Given the description of an element on the screen output the (x, y) to click on. 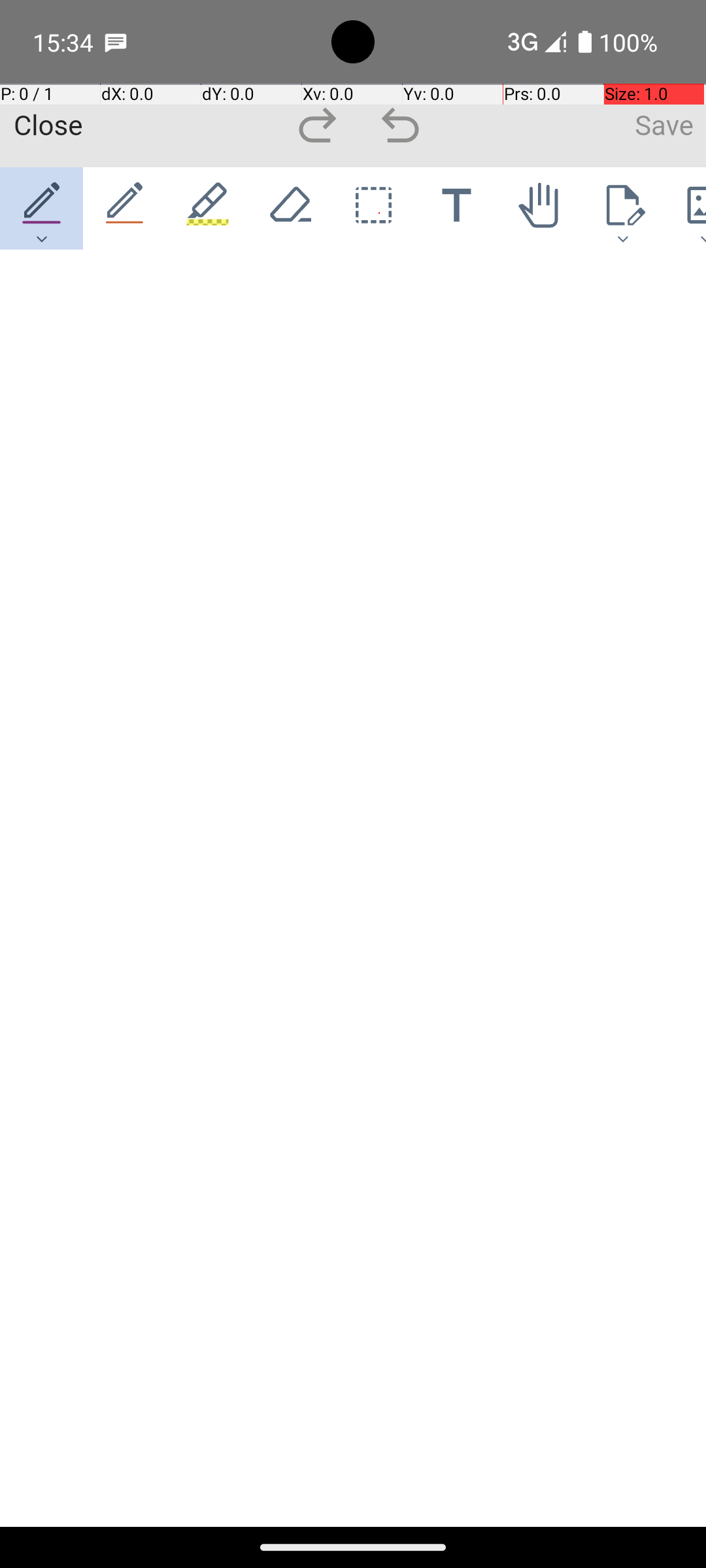
Done loading. Element type: android.widget.TextView (48, 281)
Re-render as text Element type: android.widget.Button (47, 308)
Enable sound-based exploration Element type: android.widget.Button (70, 309)
Close Element type: android.widget.Button (48, 125)
Pen 1 Element type: android.widget.ToggleButton (41, 208)
Pen 2 Element type: android.widget.Button (125, 208)
Pen 3 Element type: android.widget.Button (207, 208)
Eraser Element type: android.widget.Button (290, 208)
Select Element type: android.widget.Button (373, 208)
Text Element type: android.widget.Button (455, 208)
Pan Element type: android.widget.Button (540, 208)
Page Element type: android.widget.Button (622, 208)
